Given the description of an element on the screen output the (x, y) to click on. 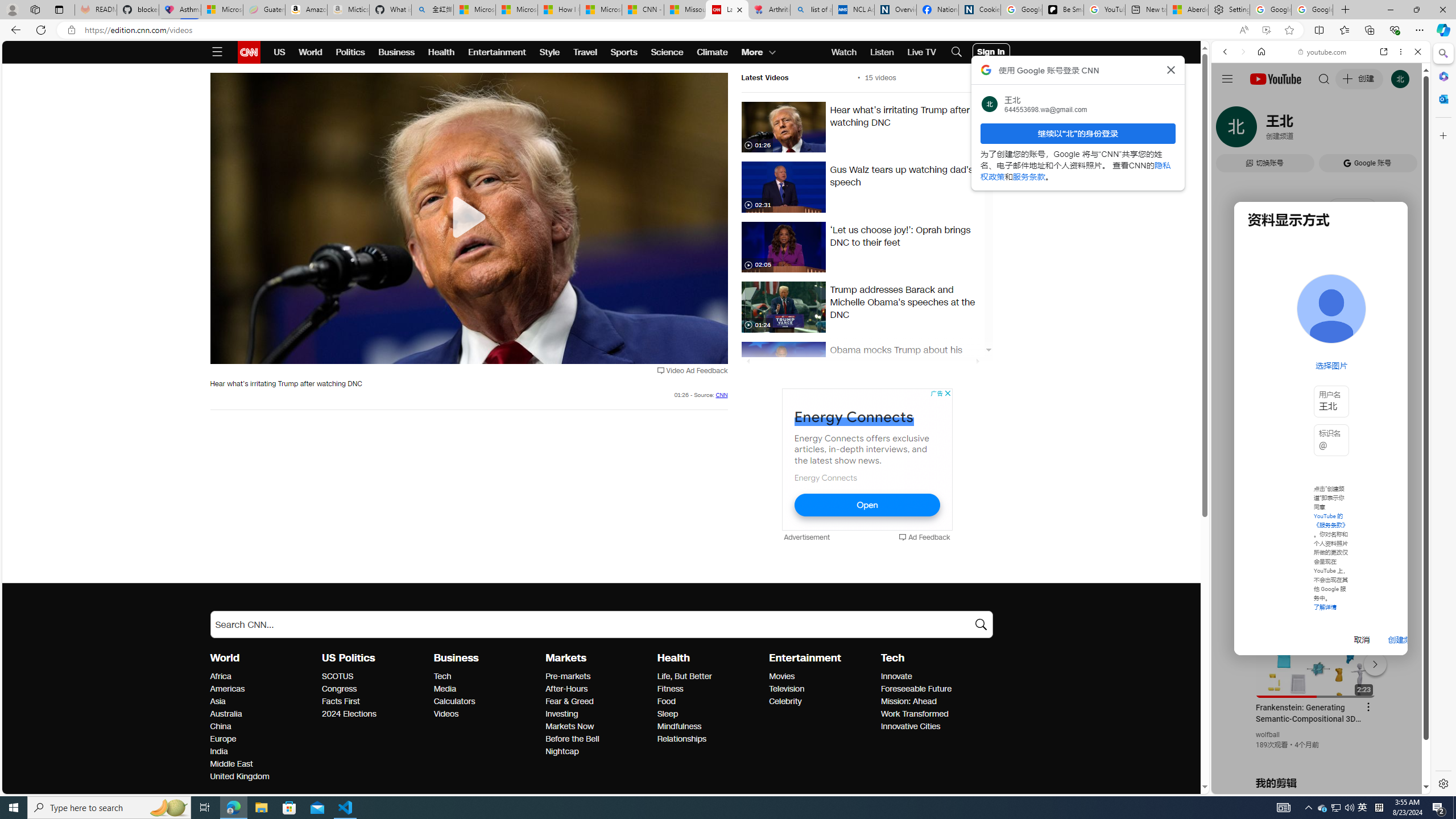
Europe (262, 739)
Africa (262, 676)
Media (485, 688)
Tech Innovate (896, 676)
Business Videos (445, 713)
Be Smart | creating Science videos | Patreon (1062, 9)
Fitness (709, 688)
